Given the description of an element on the screen output the (x, y) to click on. 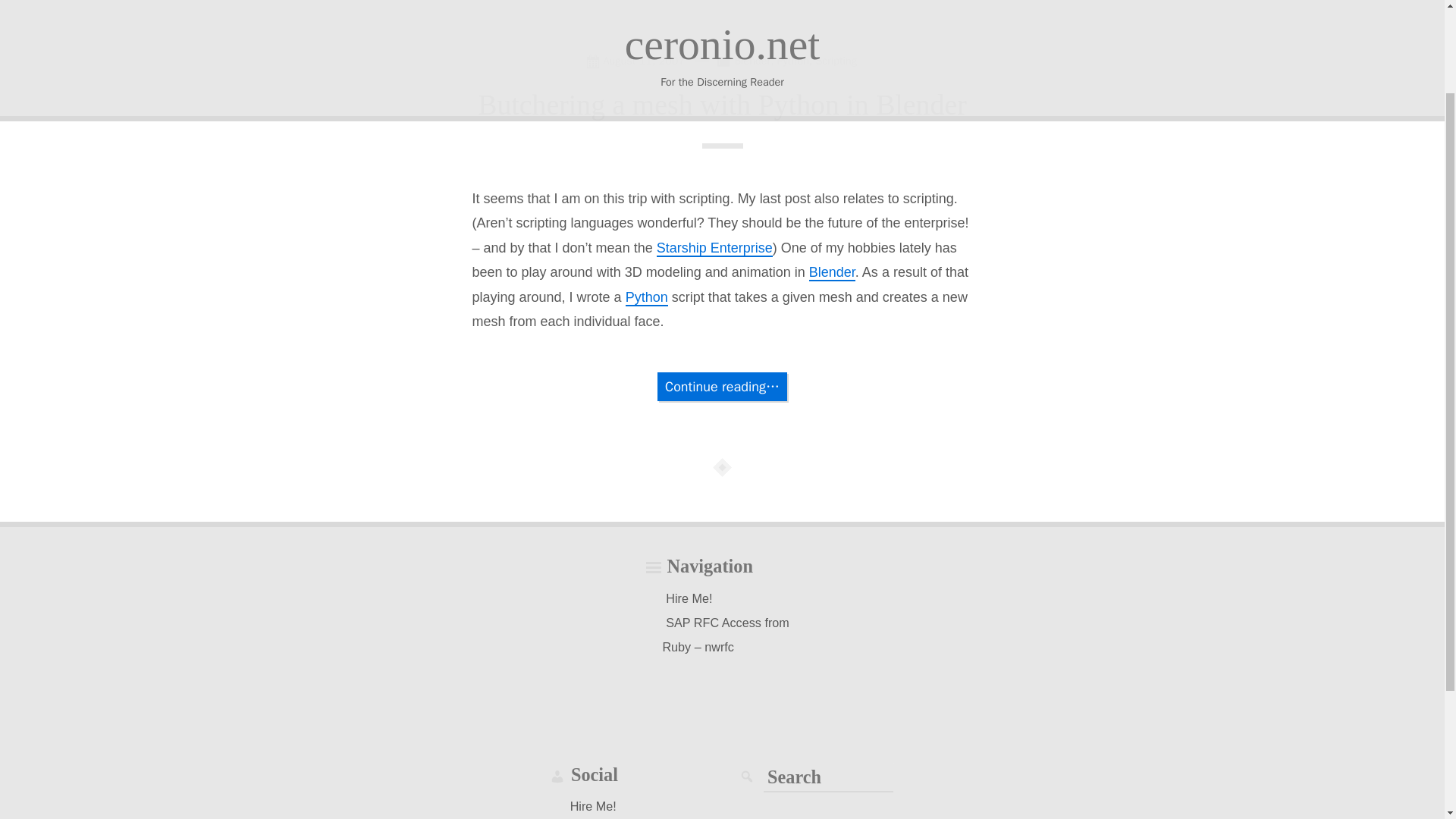
Hire Me! (689, 598)
Python (647, 297)
August 11, 2007 (639, 59)
Blender (751, 60)
Starship Enterprise (714, 248)
Butchering a mesh with Python in Blender (721, 104)
Hire Me! (593, 805)
